Given the description of an element on the screen output the (x, y) to click on. 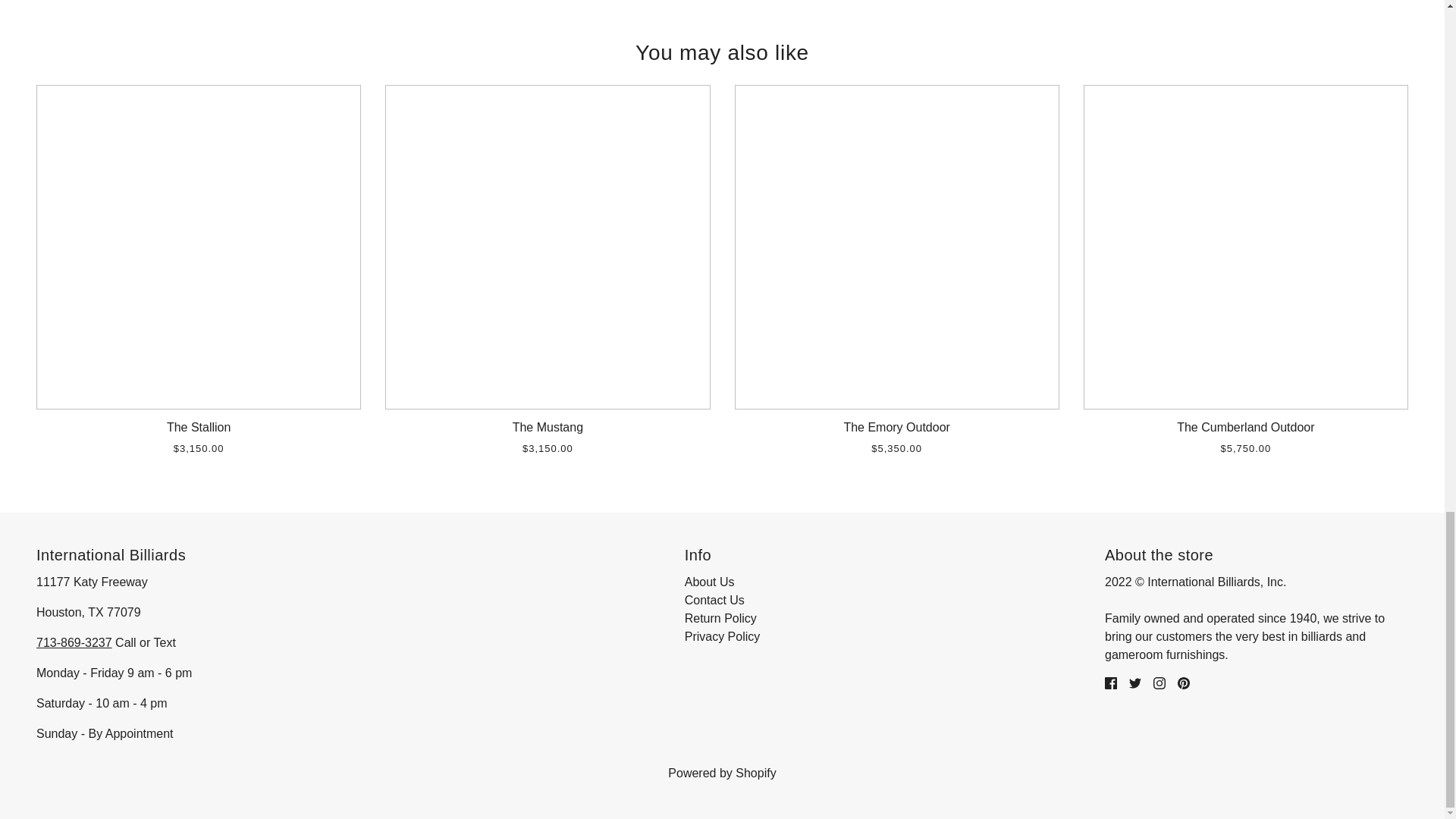
About Us (709, 581)
Privacy Policy (722, 635)
Call Now (74, 642)
Contact Us (714, 599)
Return Policy (720, 617)
